Given the description of an element on the screen output the (x, y) to click on. 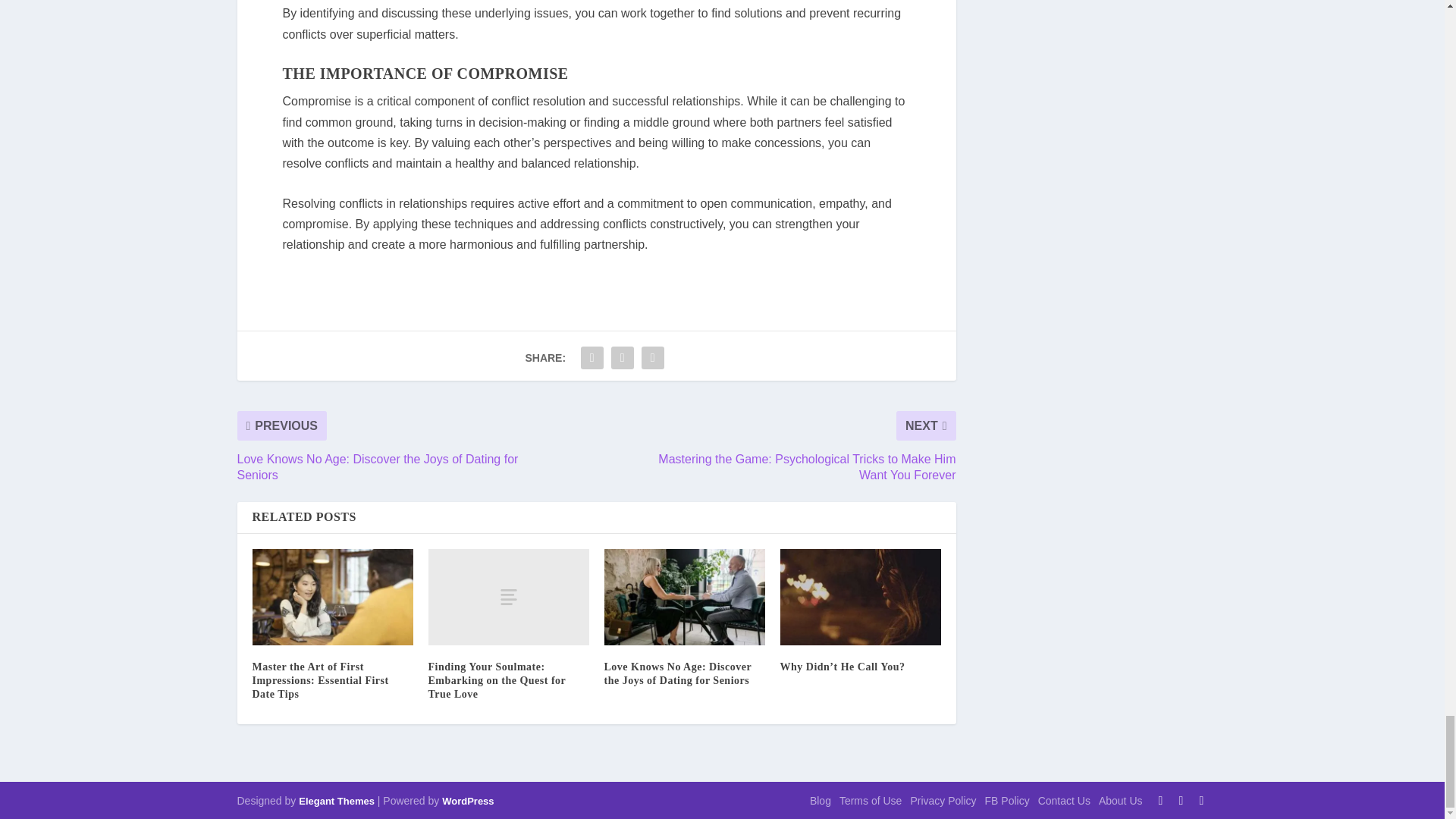
Finding Your Soulmate: Embarking on the Quest for True Love (508, 596)
Love Knows No Age: Discover the Joys of Dating for Seniors (684, 596)
Premium WordPress Themes (336, 800)
